Given the description of an element on the screen output the (x, y) to click on. 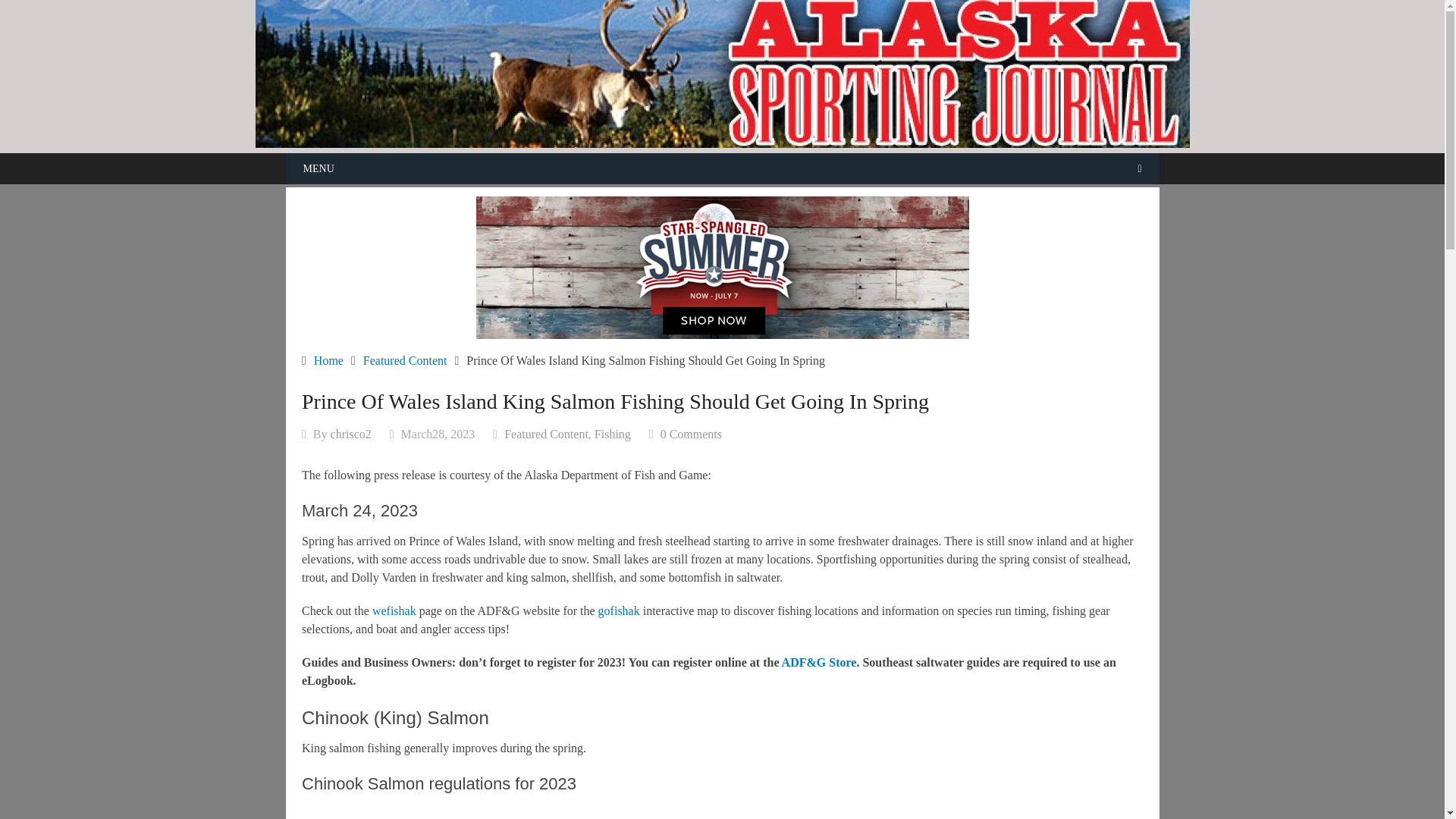
chrisco2 (350, 433)
Home (328, 359)
0 Comments (691, 433)
gofishak (619, 609)
Featured Content (404, 359)
Featured Content (545, 433)
wefishak (394, 609)
Fishing (612, 433)
Posts by chrisco2 (350, 433)
MENU (721, 168)
